Given the description of an element on the screen output the (x, y) to click on. 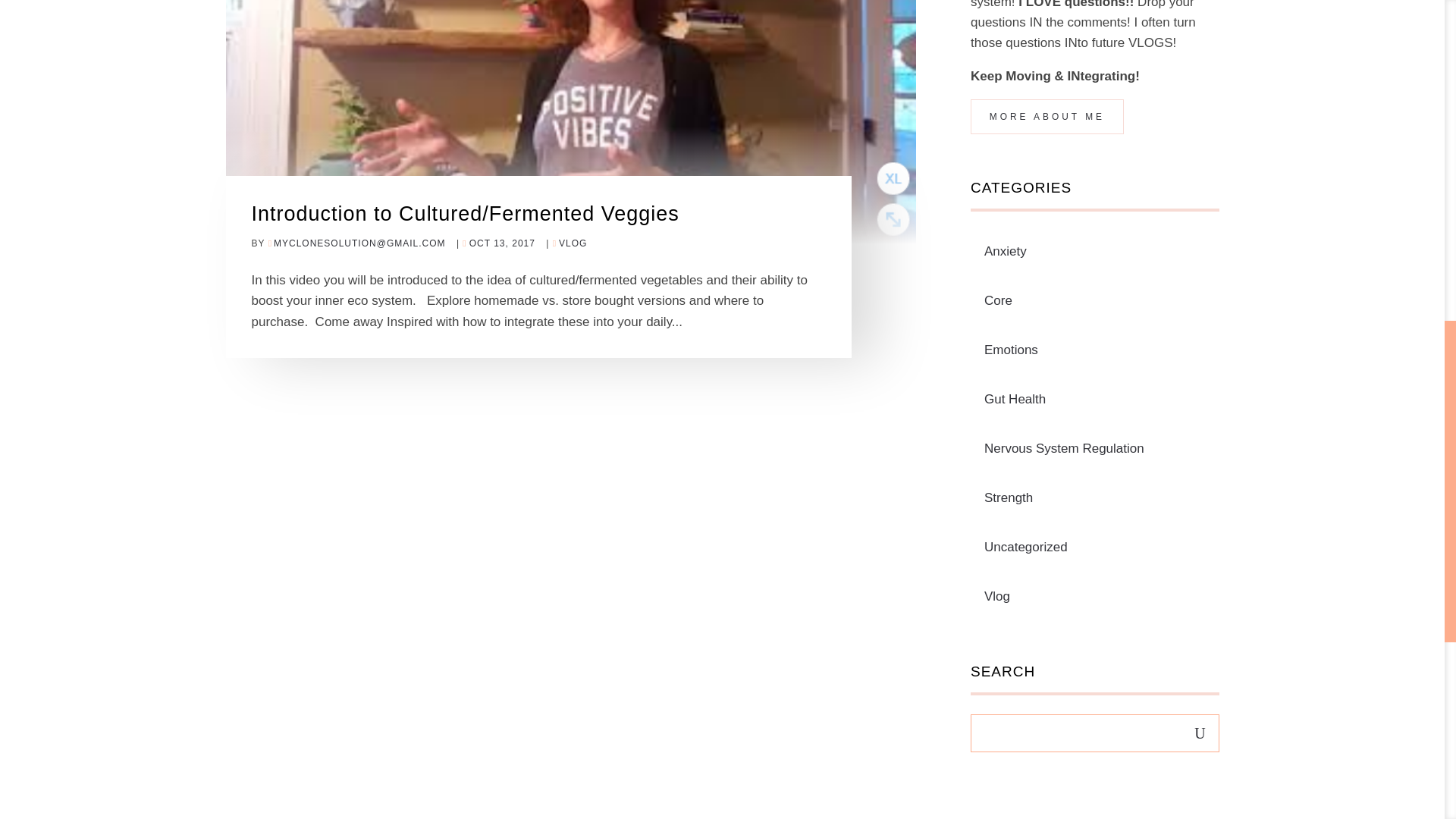
Search (1200, 729)
